Given the description of an element on the screen output the (x, y) to click on. 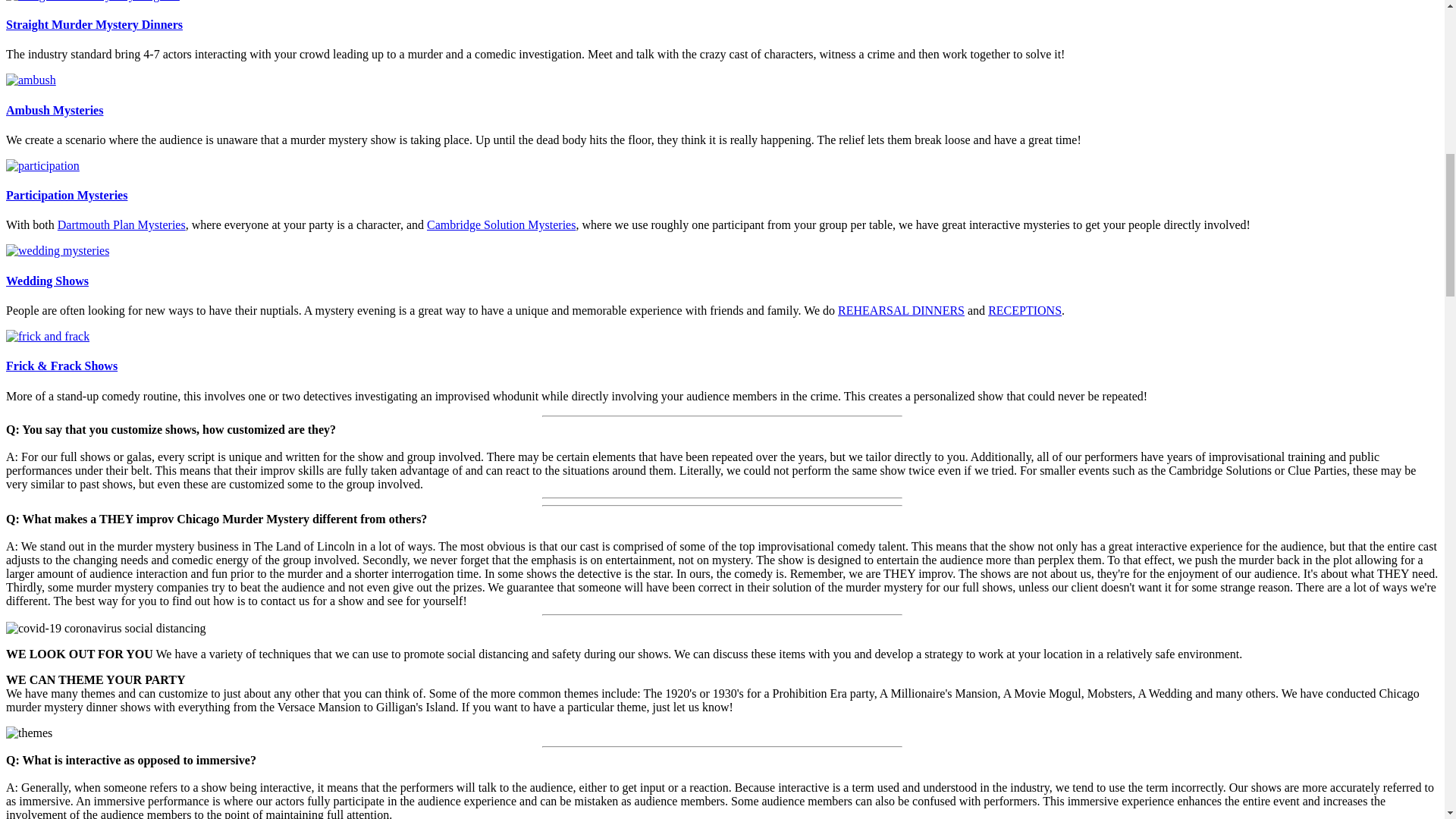
wedding mysteries (57, 250)
ambush (30, 79)
participation (42, 165)
straight murder mystery (92, 1)
frick and frack (46, 336)
